Given the description of an element on the screen output the (x, y) to click on. 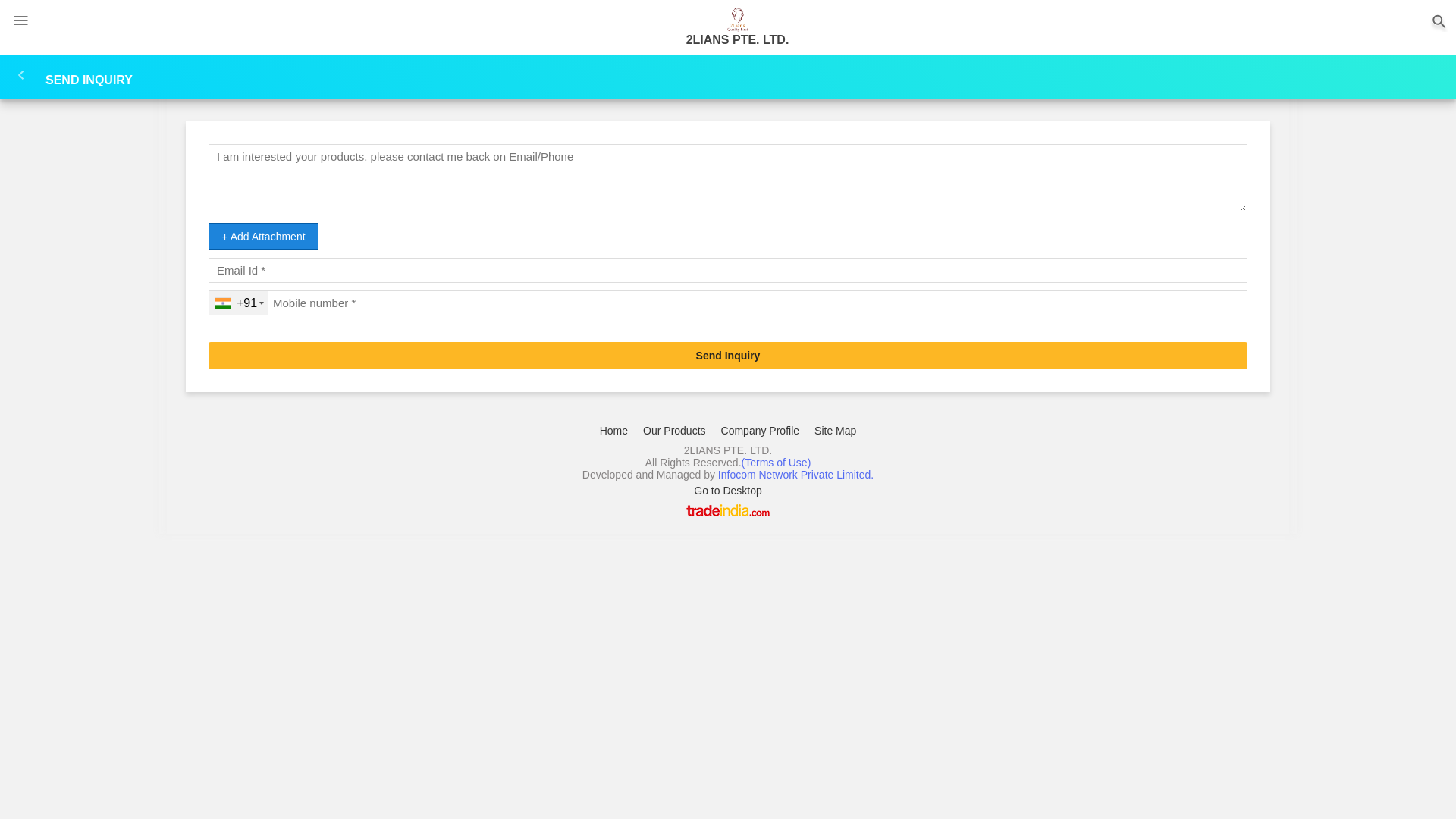
Send Inquiry Element type: text (727, 355)
Our Products Element type: text (674, 430)
(Terms of Use) Element type: text (776, 462)
Company Profile Element type: text (760, 430)
2LIANS PTE. LTD. Element type: text (737, 18)
Site Map Element type: text (835, 430)
Go to Desktop Element type: text (727, 490)
Infocom Network Private Limited. Element type: text (795, 474)
Home Element type: text (613, 430)
